Given the description of an element on the screen output the (x, y) to click on. 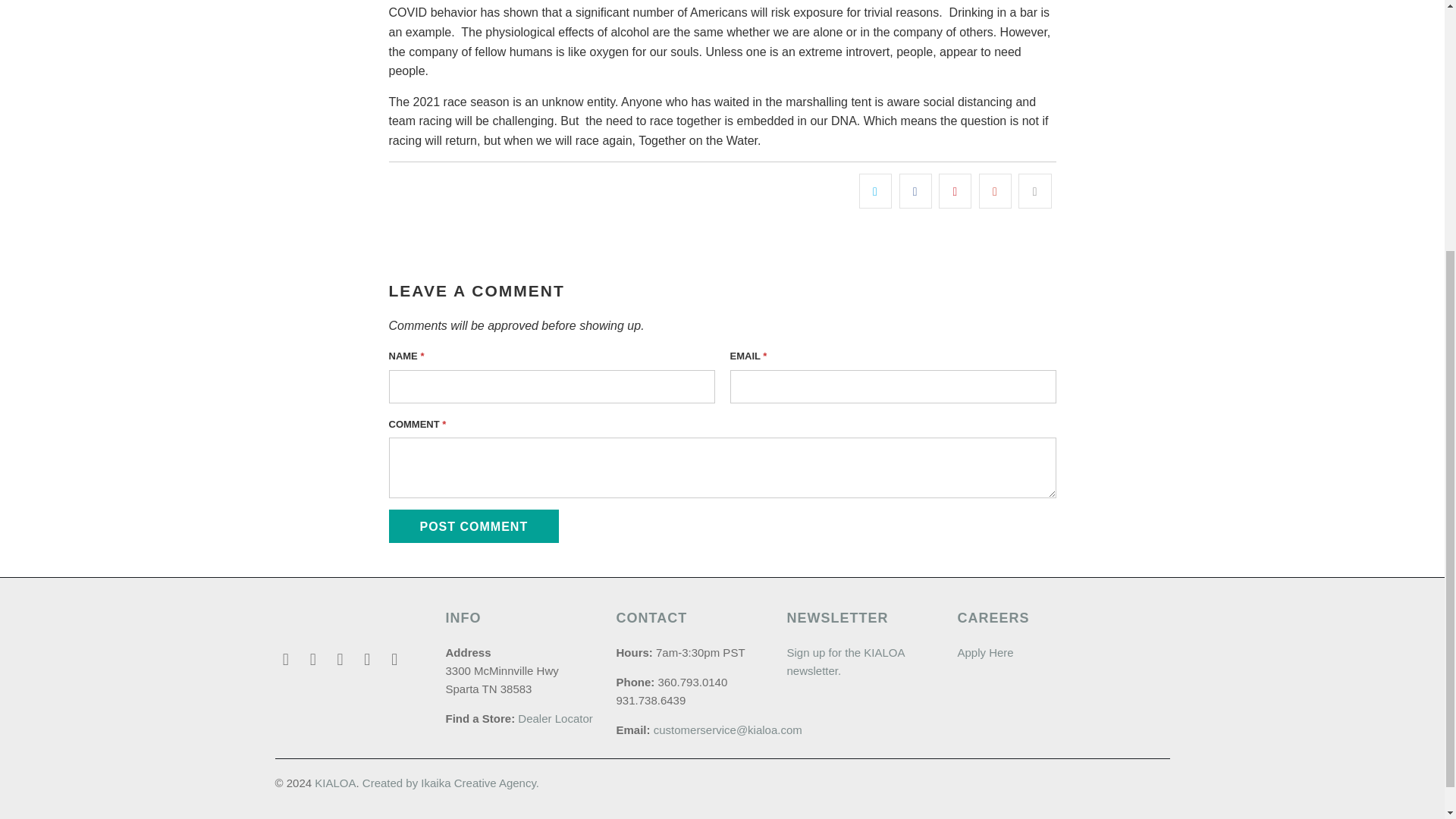
Share this on Facebook (915, 190)
Share this on Twitter (875, 190)
Post comment (473, 525)
Share this on Pinterest (955, 190)
